Given the description of an element on the screen output the (x, y) to click on. 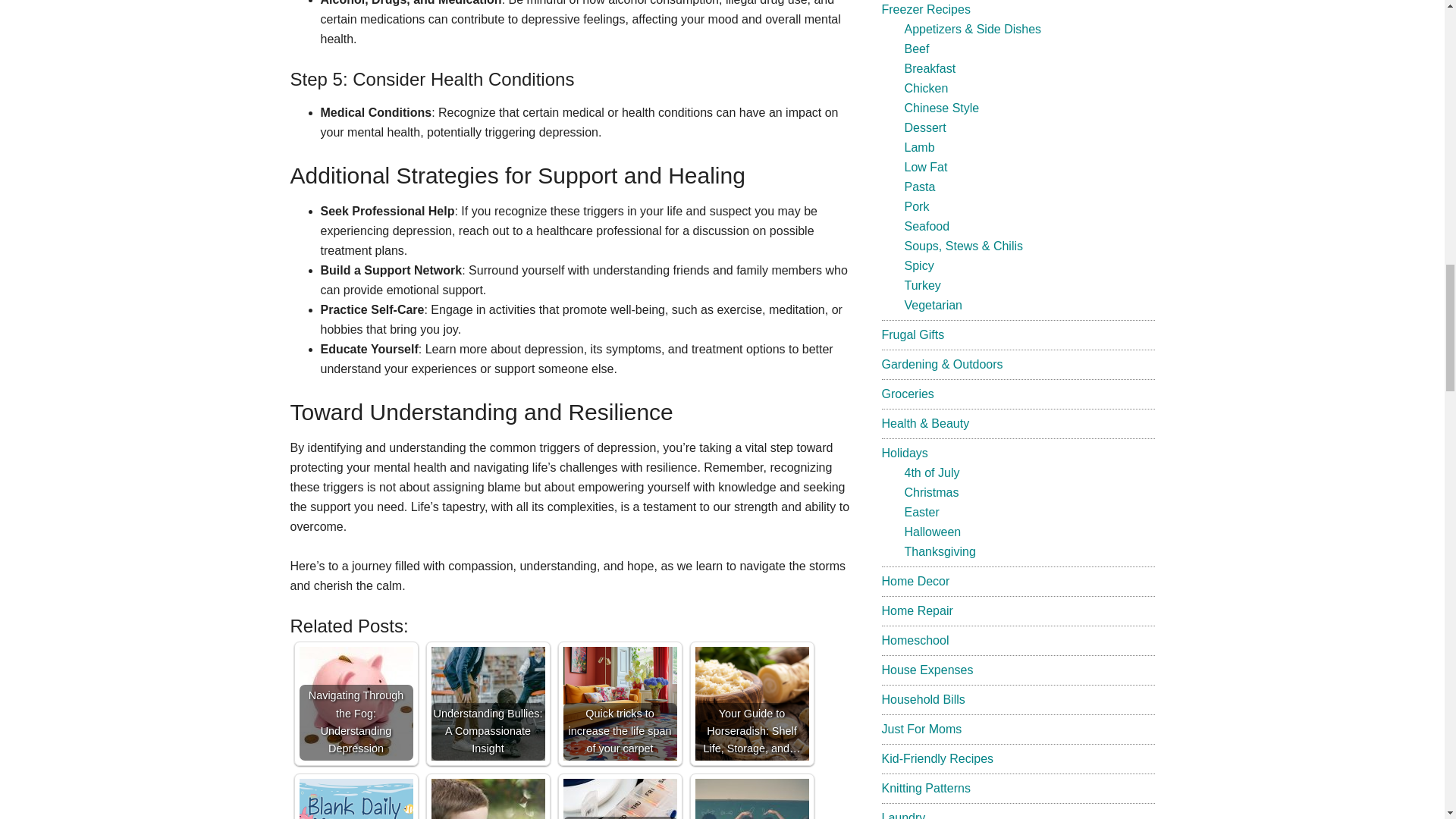
Navigating Child Support Collection: Avoiding Scams (487, 798)
Navigating Health Supplements: A Must-Share with Your Doctor (619, 798)
Navigating Health Supplements: A Must-Share with Your Doctor (619, 798)
Navigating Through the Fog: Understanding Depression (355, 703)
Navigating Child Support Collection: Avoiding Scams (487, 798)
Quick tricks to increase the life span of your carpet (619, 703)
Understanding Bullies: A Compassionate Insight (487, 703)
Navigating Through the Fog: Understanding Depression (355, 703)
